Given the description of an element on the screen output the (x, y) to click on. 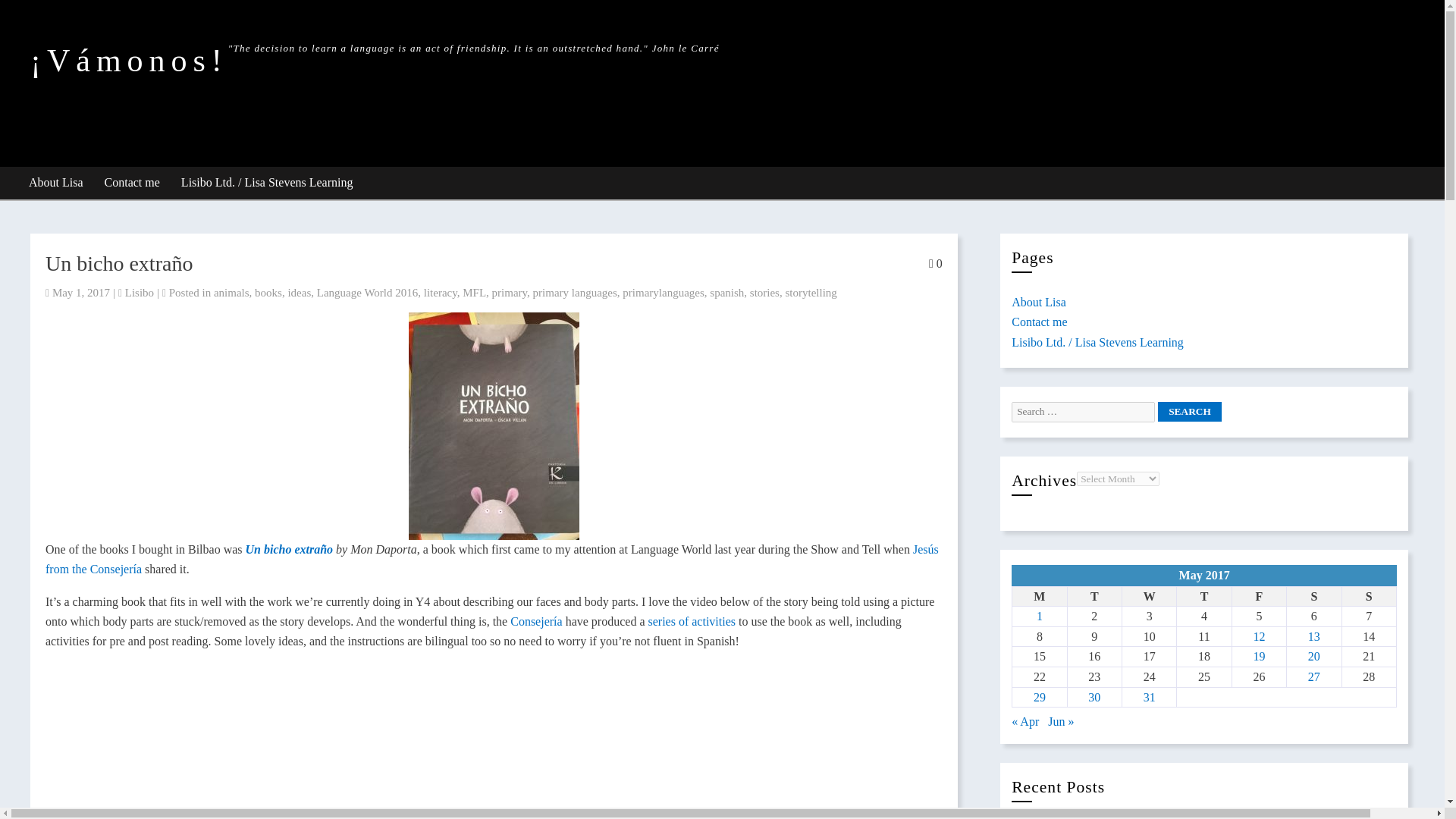
Wednesday (1148, 596)
spanish (727, 292)
Monday (1039, 596)
Sunday (1368, 596)
Contact me (132, 183)
primarylanguages (663, 292)
Tuesday (1094, 596)
Language World 2016 (367, 292)
primary languages (574, 292)
0 (935, 263)
books (268, 292)
Thursday (1203, 596)
animals (231, 292)
series of activities (692, 621)
Contact me (1039, 321)
